Given the description of an element on the screen output the (x, y) to click on. 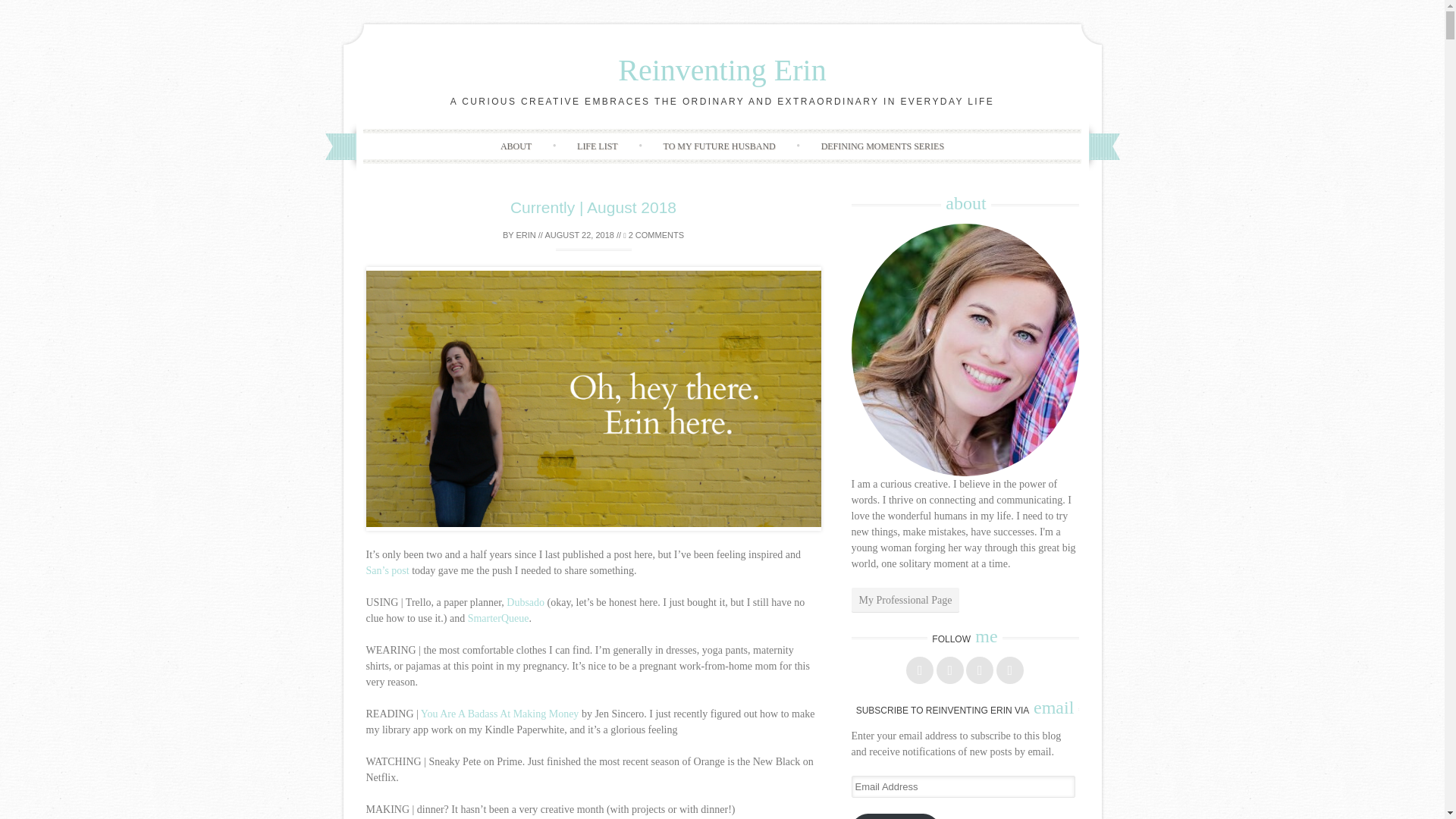
SmarterQueue (498, 618)
You Are A Badass At Making Money (499, 713)
ERIN (525, 234)
LIFE LIST (597, 145)
Reinventing Erin (721, 69)
Dubsado (525, 602)
View all posts by erin (525, 234)
AUGUST 22, 2018 (579, 234)
DEFINING MOMENTS SERIES (882, 145)
2 COMMENTS (653, 234)
TO MY FUTURE HUSBAND (719, 145)
ABOUT (515, 145)
1:50 pm (579, 234)
